Given the description of an element on the screen output the (x, y) to click on. 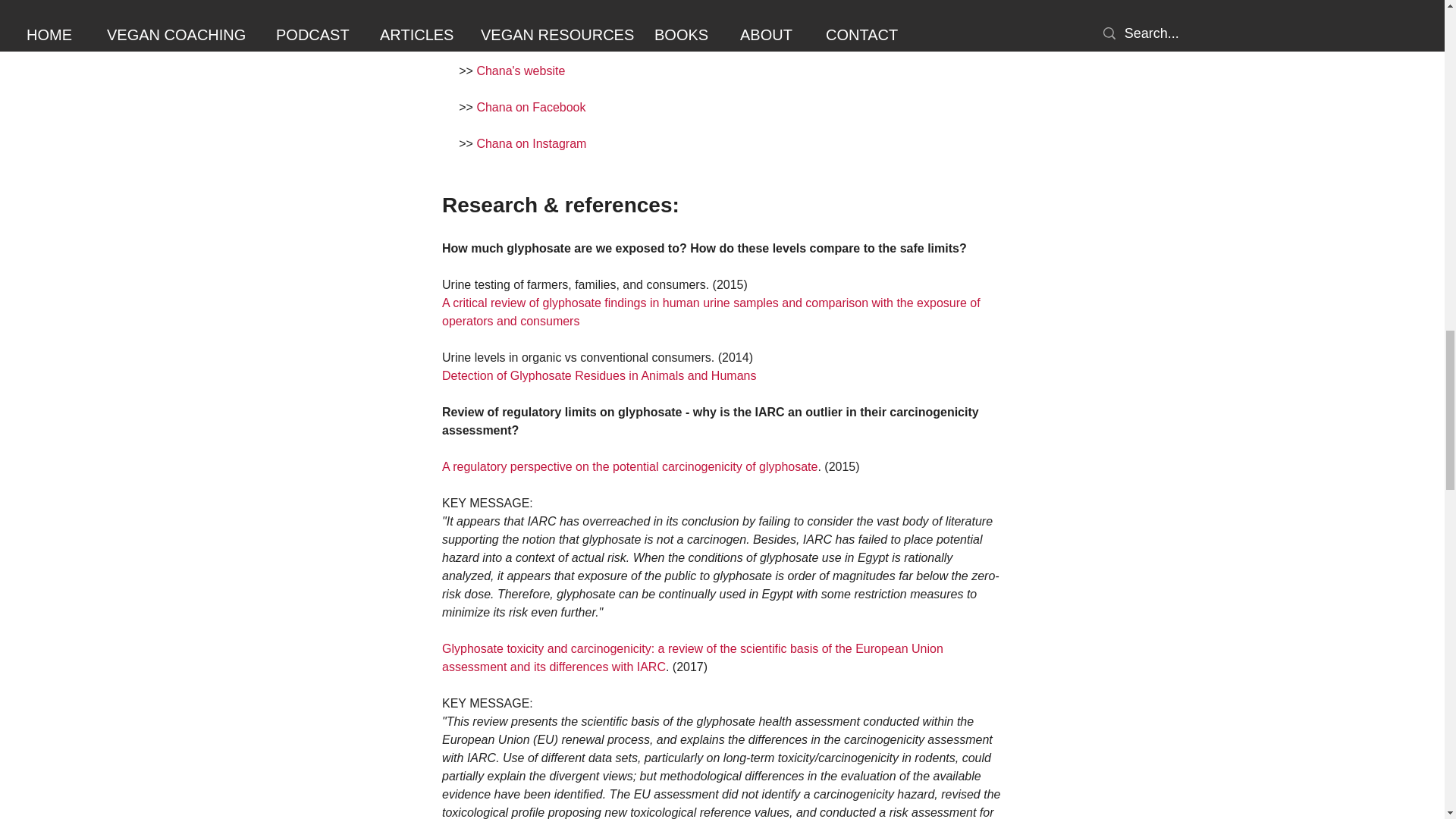
Detection of Glyphosate Residues in Animals and Humans (598, 375)
Chana on Facebook (530, 106)
Chana on Instagram (531, 143)
Chana's website (520, 70)
